Given the description of an element on the screen output the (x, y) to click on. 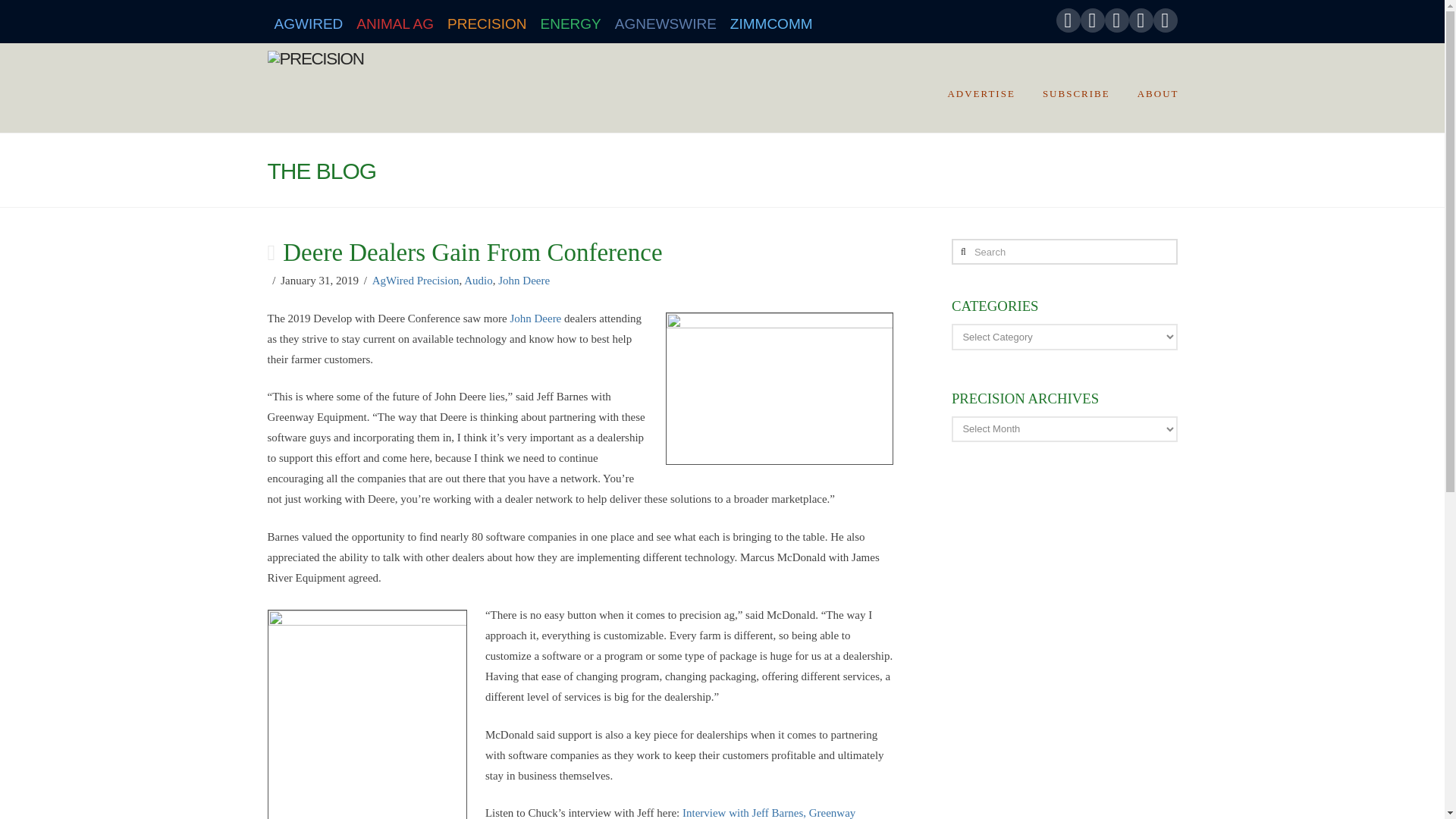
Audio (478, 280)
AGWIRED (307, 21)
ZIMMCOMM (771, 21)
Flickr (1140, 20)
Twitter (1091, 20)
RSS (1164, 20)
John Deere (534, 318)
Facebook (1067, 20)
ENERGY (571, 21)
AGNEWSWIRE (665, 21)
